Given the description of an element on the screen output the (x, y) to click on. 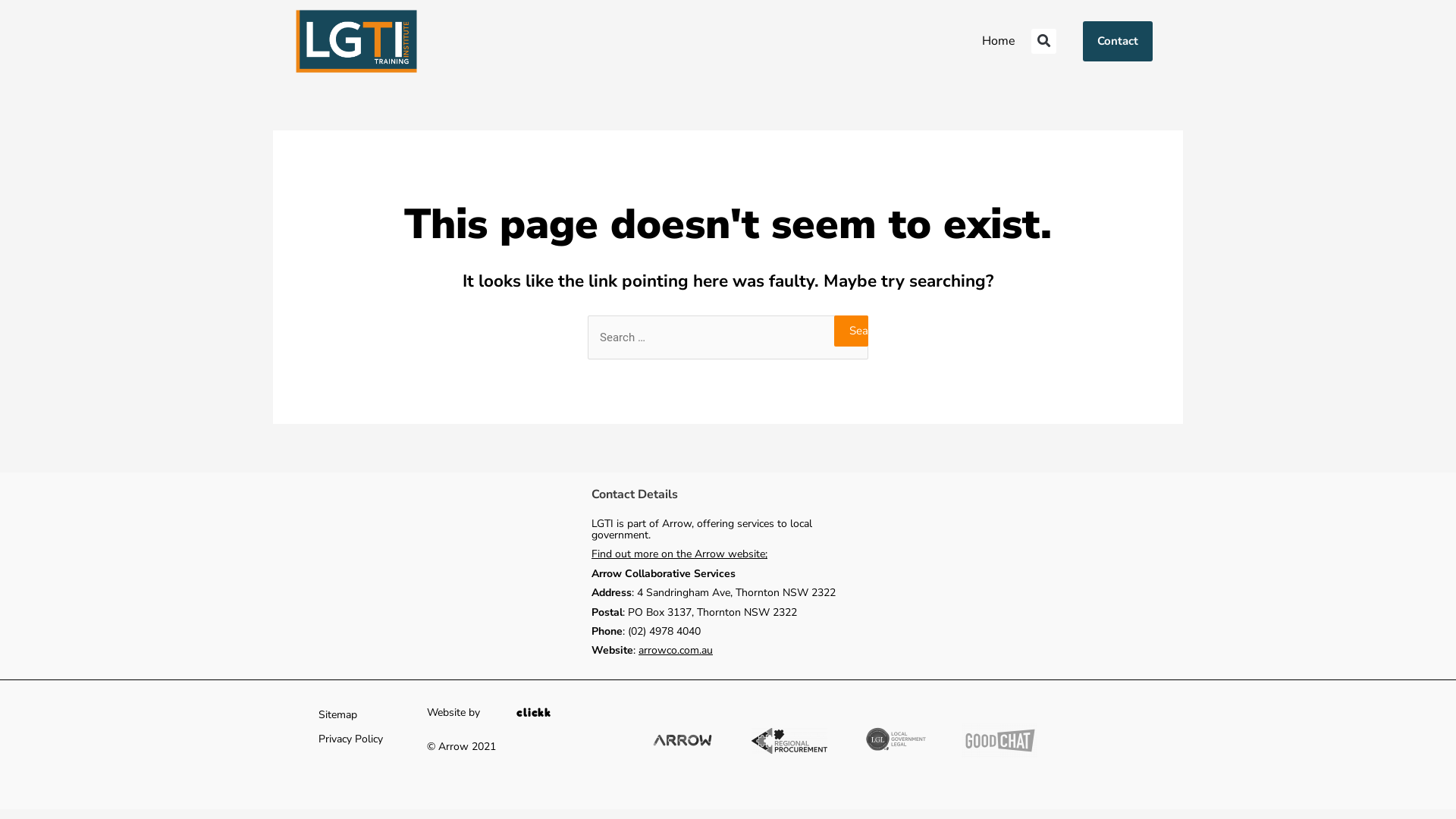
Regional Procurement Logo (1) Element type: hover (789, 740)
Home Element type: text (998, 40)
LGL-SQUARE Element type: hover (896, 740)
clickk Element type: text (533, 712)
RGB_Arrow (1) Element type: hover (682, 740)
GC_Long_Orange_RGB Element type: hover (999, 740)
Contact Element type: text (1117, 41)
Sitemap Element type: text (337, 714)
Search Element type: text (851, 330)
arrowco.com.au Element type: text (675, 650)
Privacy Policy Element type: text (350, 739)
